Given the description of an element on the screen output the (x, y) to click on. 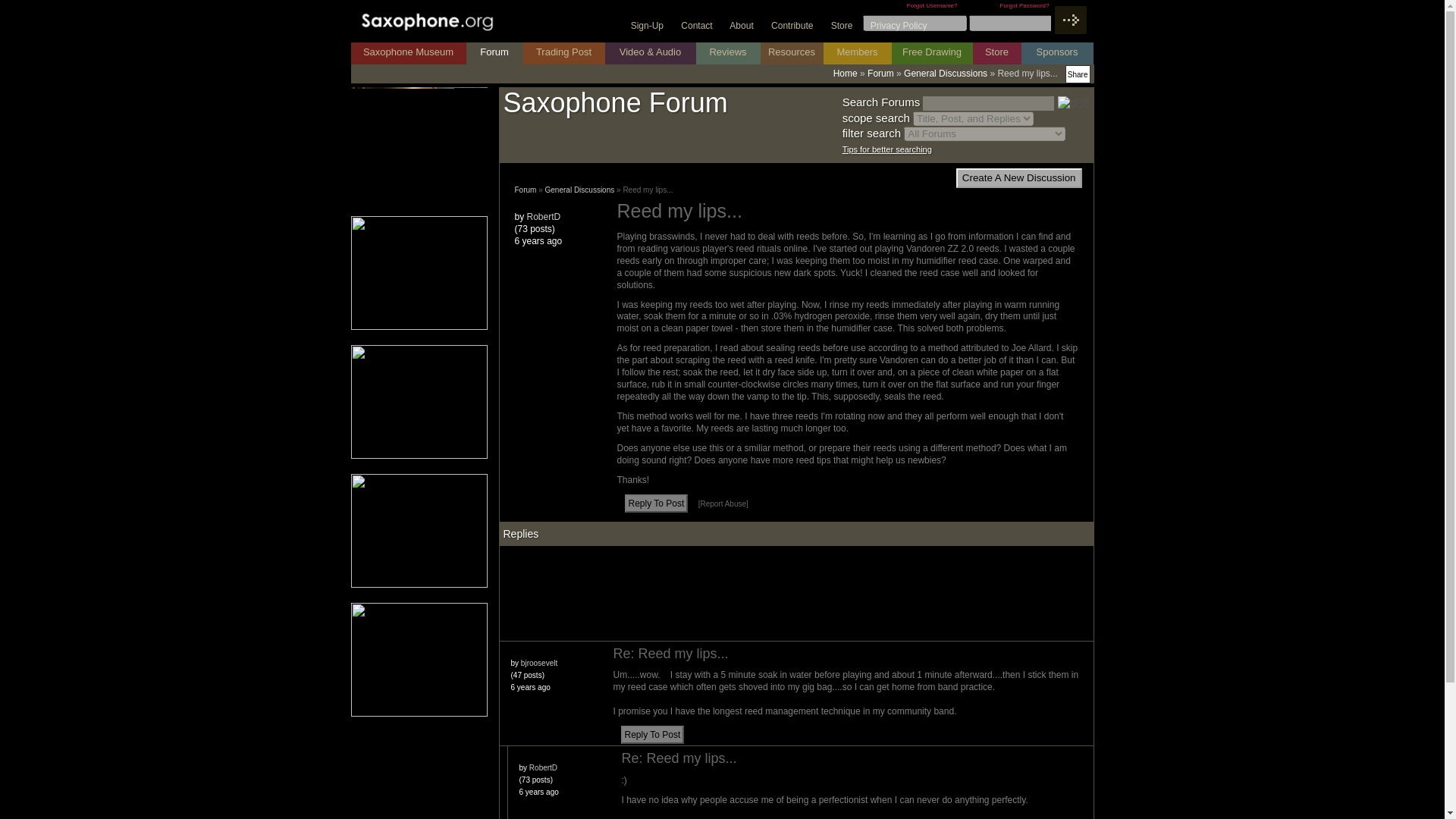
Trading Post (563, 53)
Contribute (799, 25)
Store (849, 25)
Create A New Discussion (1018, 178)
Saxophone Museum (407, 53)
Sign-Up (654, 25)
Forum (493, 53)
About (748, 25)
Forgot Password? (1024, 6)
Reviews (727, 53)
Forgot Username? (932, 6)
Privacy Policy (906, 25)
Contact (703, 25)
